Given the description of an element on the screen output the (x, y) to click on. 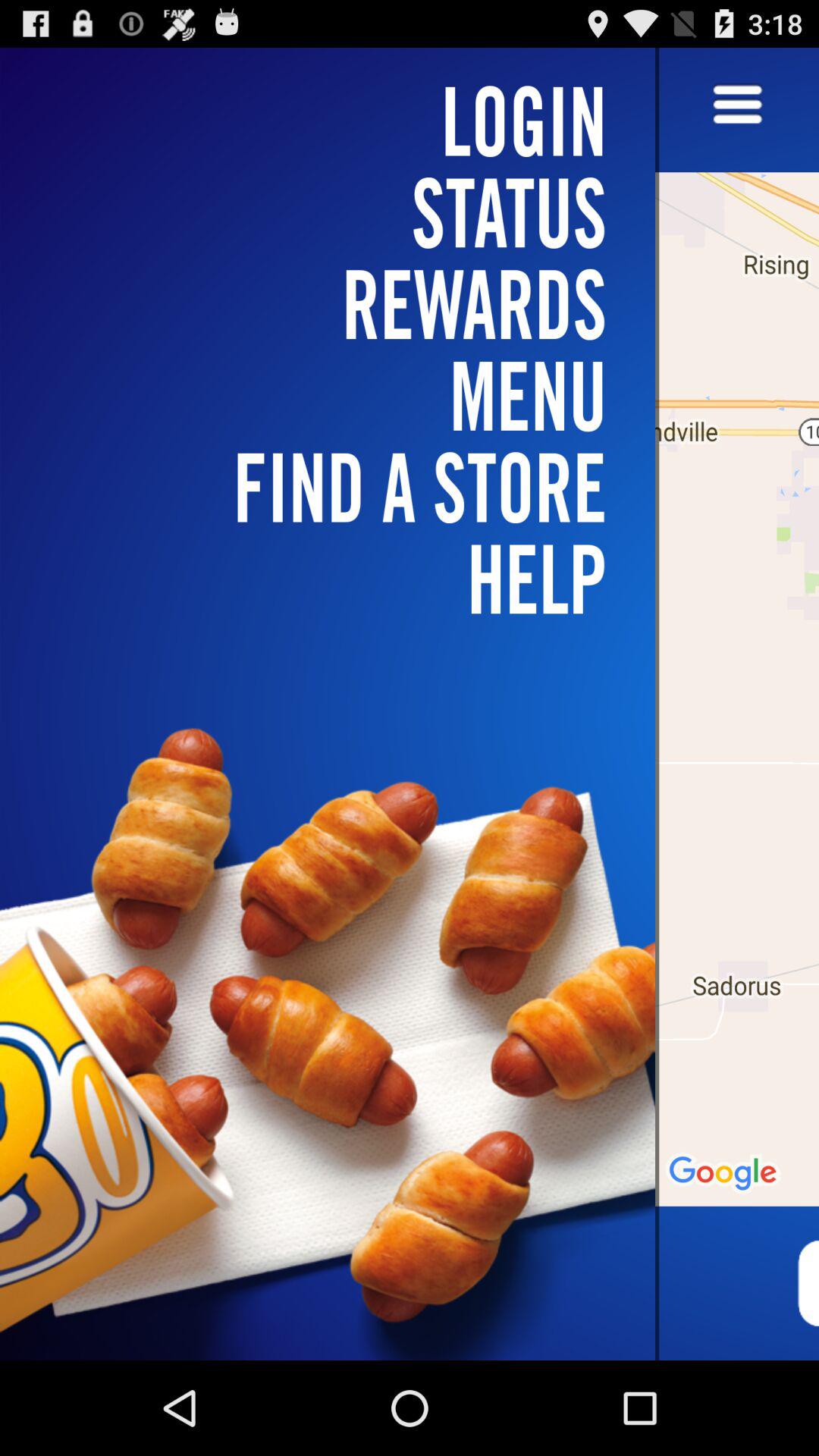
open the item above the rewards icon (336, 120)
